Given the description of an element on the screen output the (x, y) to click on. 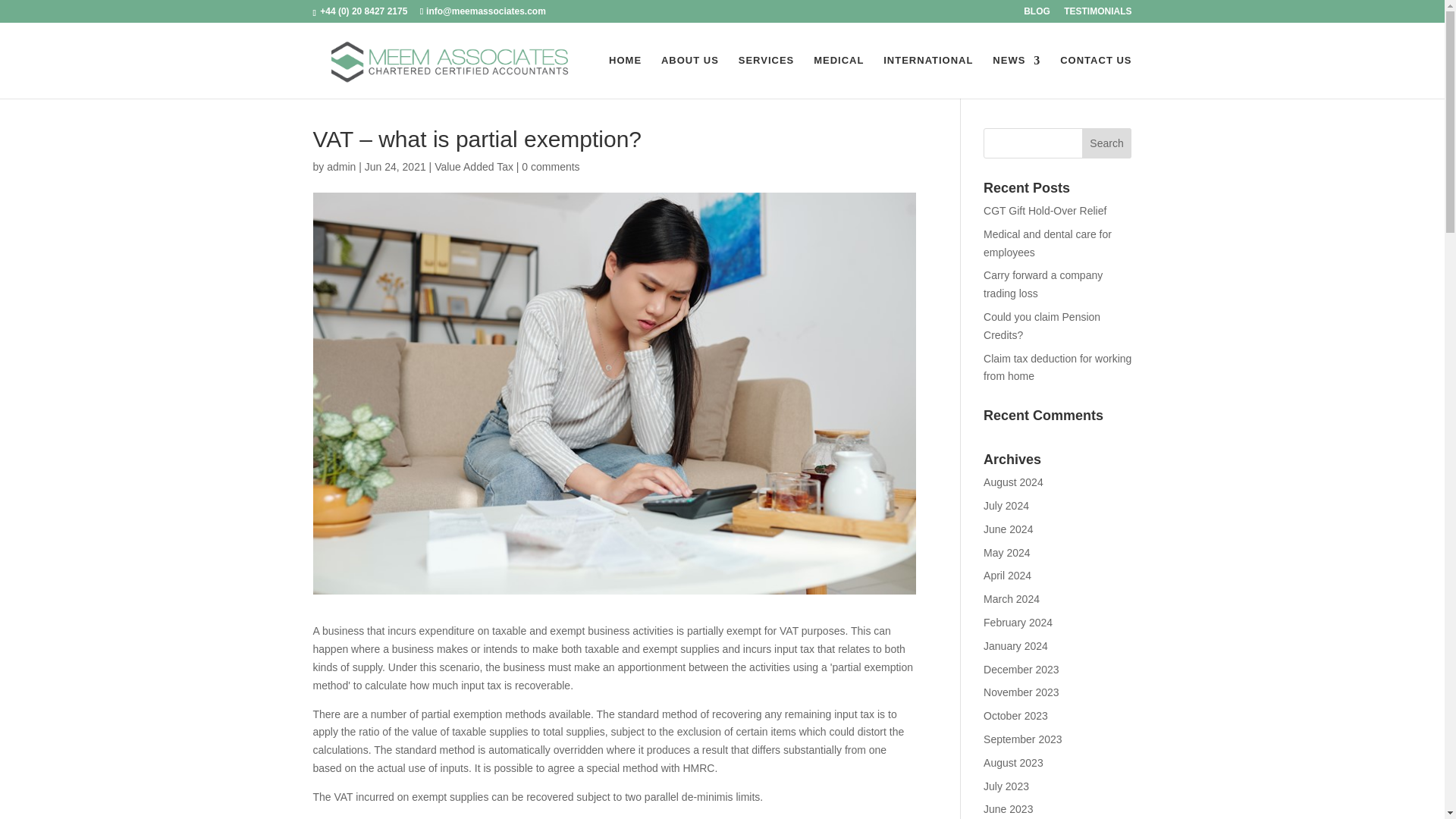
NEWS (1016, 76)
June 2024 (1008, 529)
ABOUT US (690, 76)
August 2024 (1013, 481)
December 2023 (1021, 669)
Value Added Tax (473, 166)
April 2024 (1007, 575)
Medical and dental care for employees (1048, 243)
February 2024 (1018, 622)
Search (1106, 142)
